Given the description of an element on the screen output the (x, y) to click on. 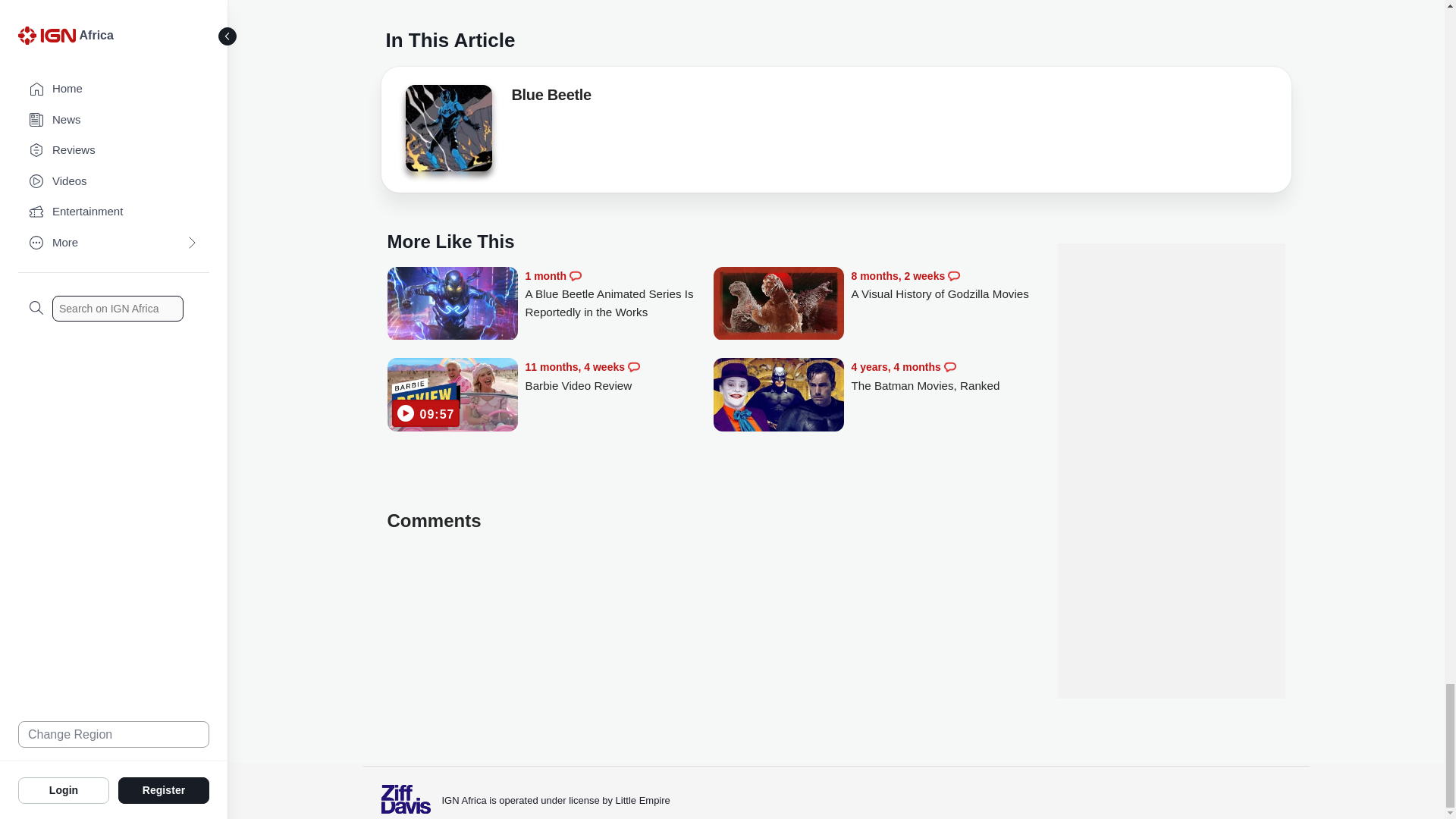
Barbie Video Review (618, 375)
A Blue Beetle Animated Series Is Reportedly in the Works (451, 304)
A Blue Beetle Animated Series Is Reportedly in the Works (618, 294)
Blue Beetle (551, 97)
Blue Beetle (448, 128)
Barbie Video Review (451, 395)
A Visual History of Godzilla Movies (944, 284)
A Visual History of Godzilla Movies (778, 304)
Blue Beetle (448, 132)
The Batman Movies, Ranked (944, 375)
Comments (633, 367)
The Batman Movies, Ranked (778, 395)
Comments (574, 275)
Comments (949, 367)
Comments (953, 275)
